Given the description of an element on the screen output the (x, y) to click on. 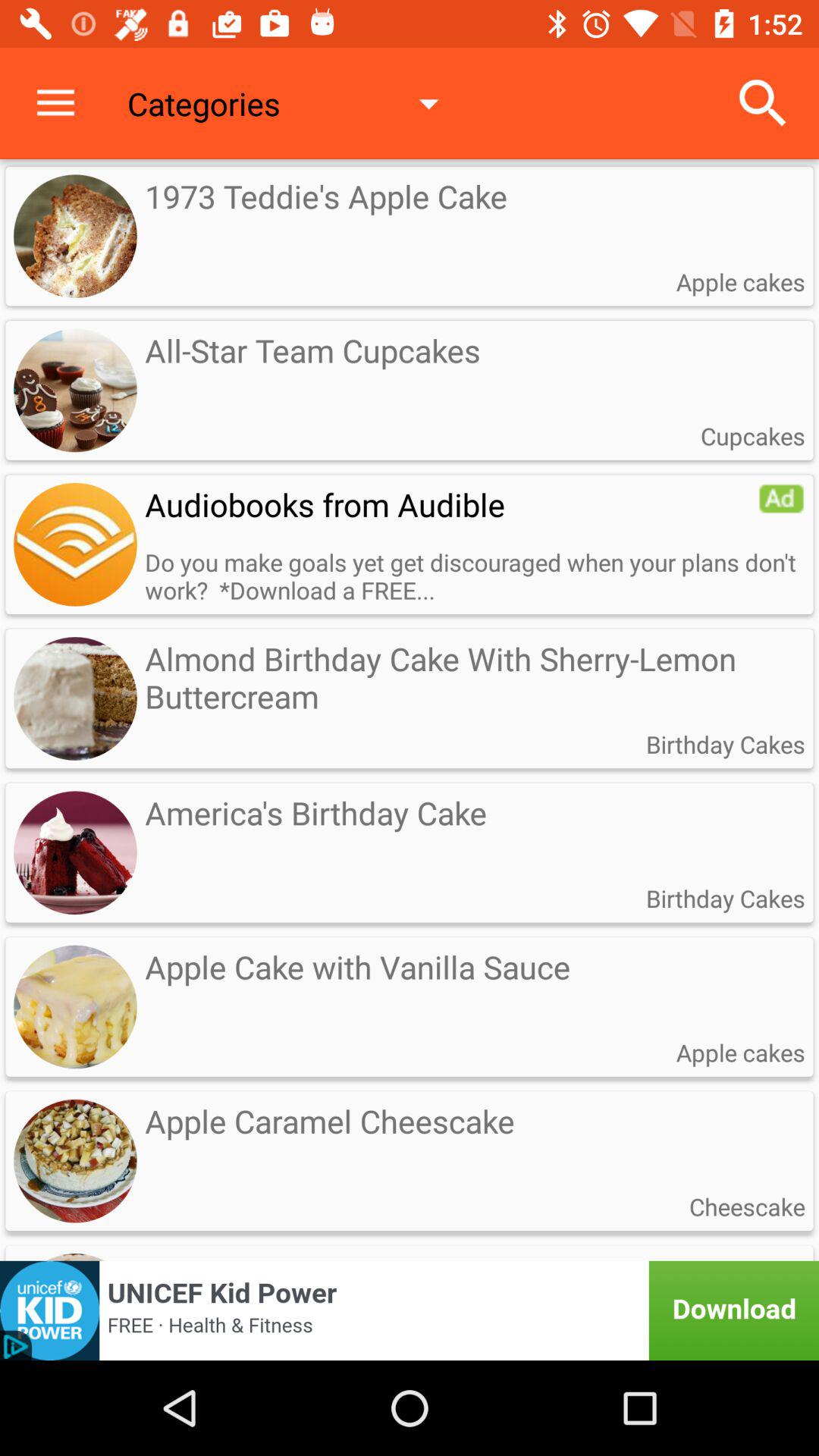
turn on the icon above apple cakes item (763, 103)
